Given the description of an element on the screen output the (x, y) to click on. 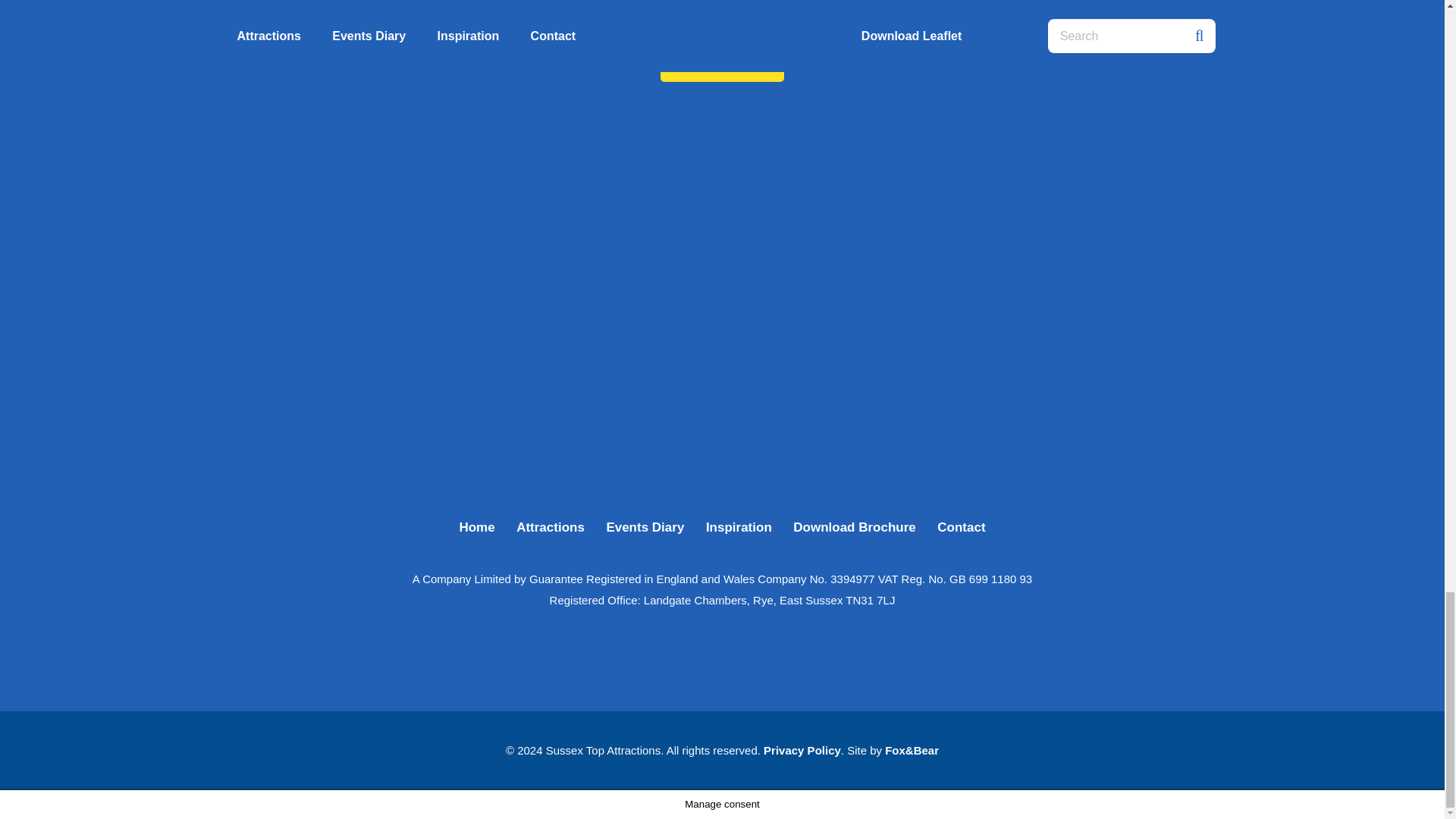
Download Brochure (854, 527)
Get in Touch (722, 63)
Events Diary (644, 527)
Contact (722, 63)
Privacy Policy (801, 749)
Inspiration (738, 527)
Attractions (550, 527)
Home (476, 527)
Contact (961, 527)
